Given the description of an element on the screen output the (x, y) to click on. 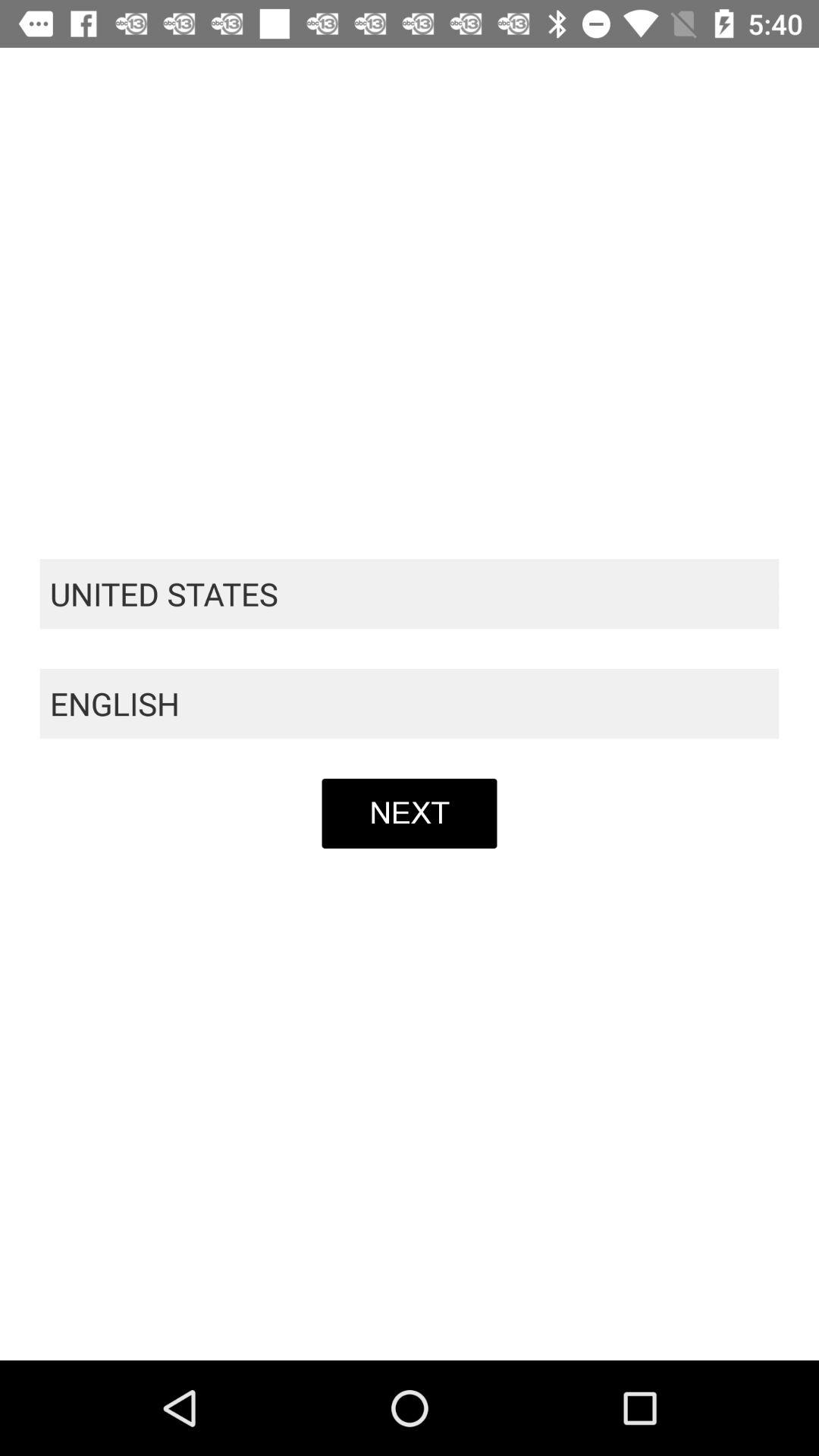
press english (409, 703)
